Given the description of an element on the screen output the (x, y) to click on. 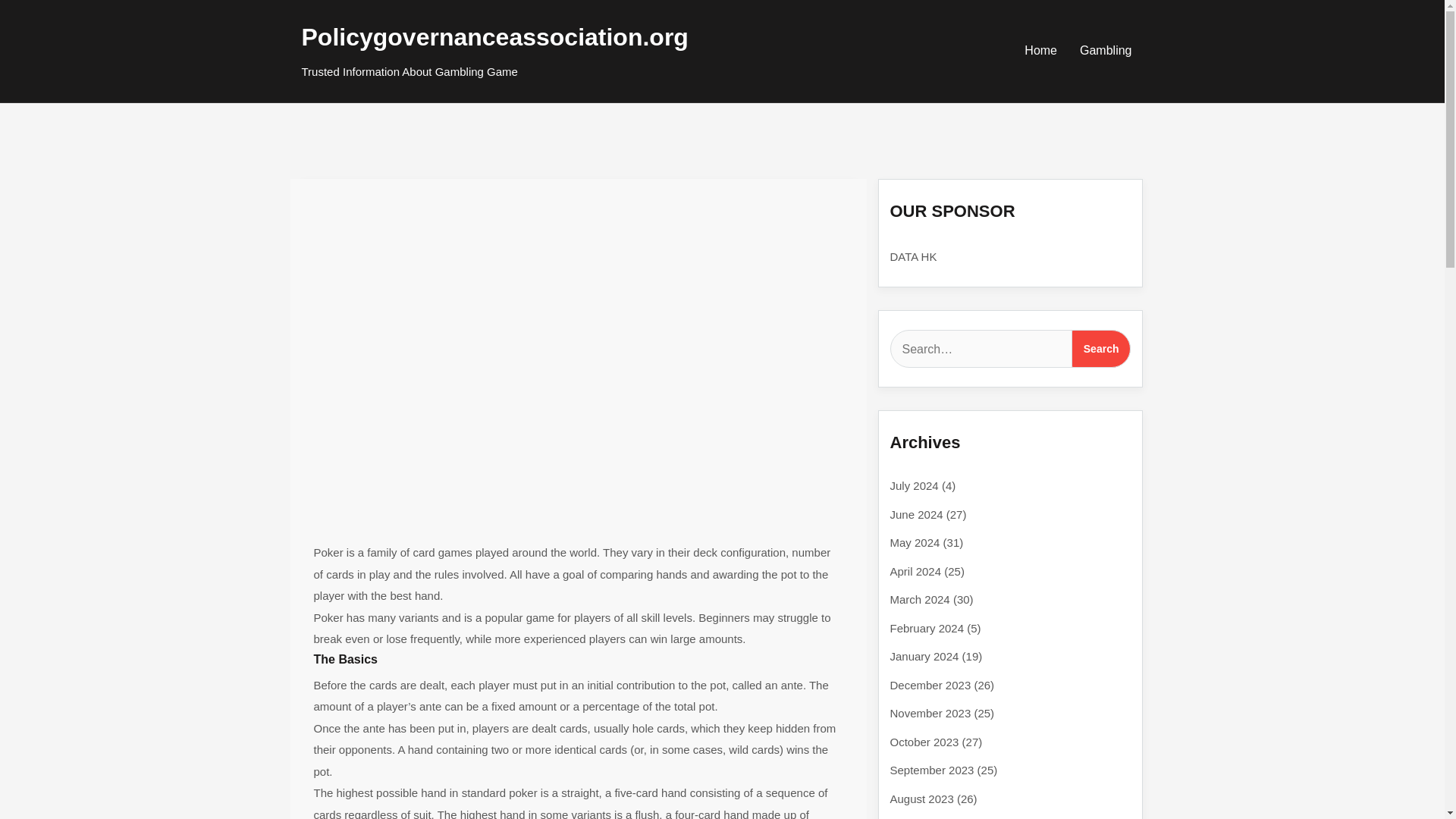
The Basics of Poker (400, 204)
Gambling (1105, 50)
February 2024 (926, 627)
November 2023 (930, 712)
September 2023 (931, 769)
March 2024 (919, 599)
Home (1040, 50)
April 2024 (915, 570)
DATA HK (913, 256)
Policygovernanceassociation.org (494, 36)
August 2023 (921, 797)
October 2023 (924, 741)
January 2024 (924, 656)
Home (1040, 50)
Search (1101, 348)
